Given the description of an element on the screen output the (x, y) to click on. 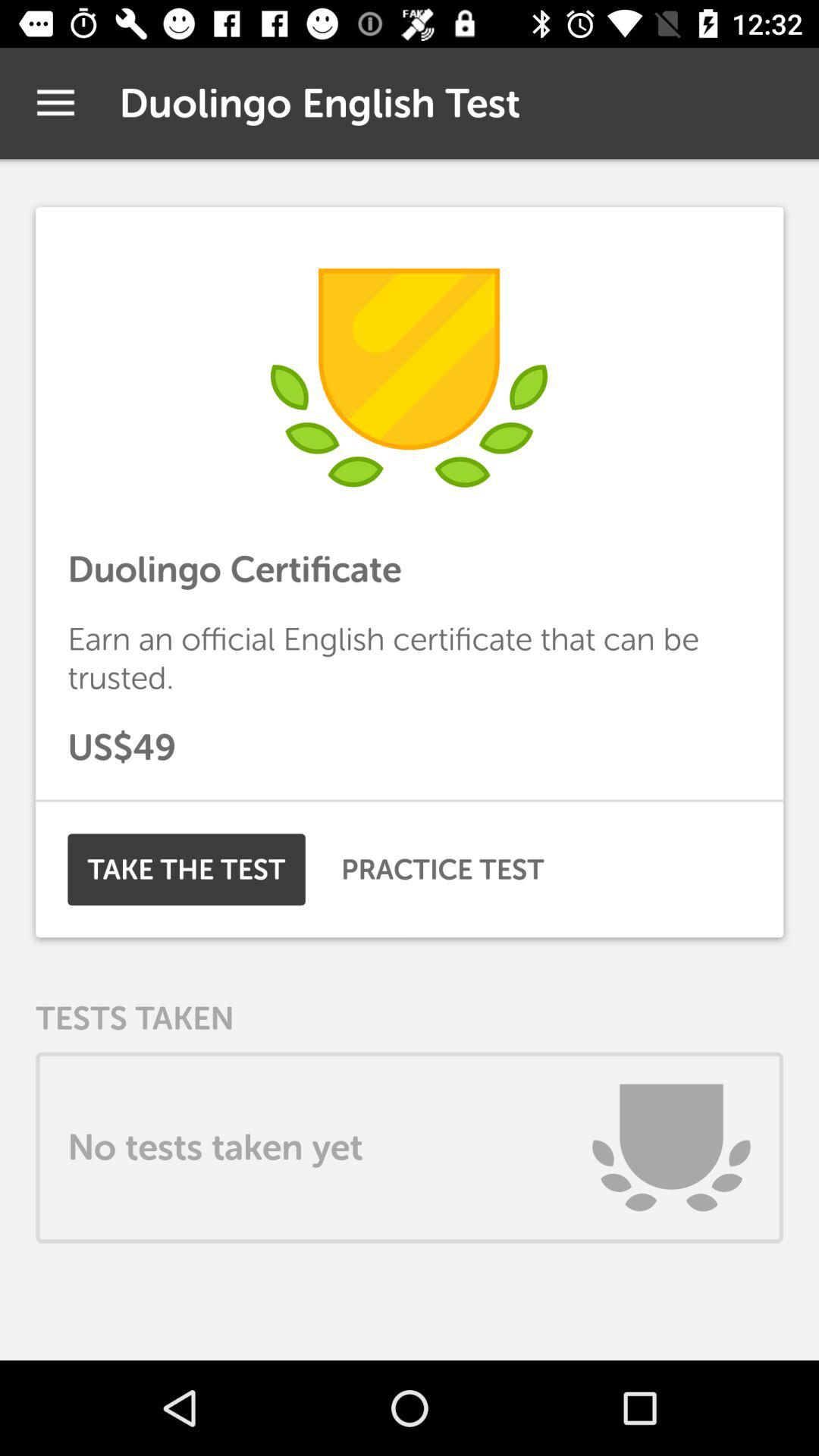
scroll to practice test item (442, 869)
